Given the description of an element on the screen output the (x, y) to click on. 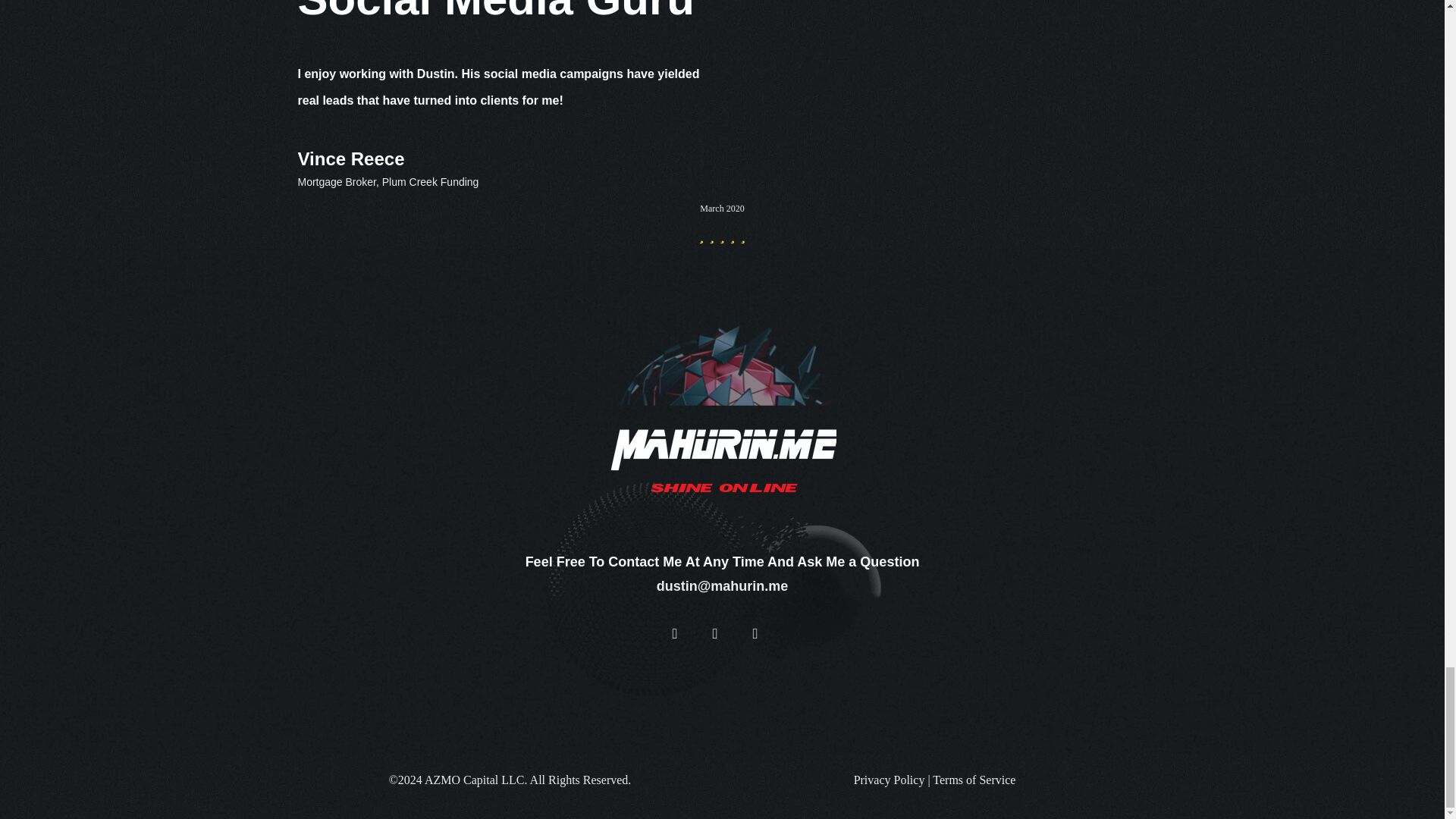
Terms of Service (973, 779)
Privacy Policy (888, 779)
